Given the description of an element on the screen output the (x, y) to click on. 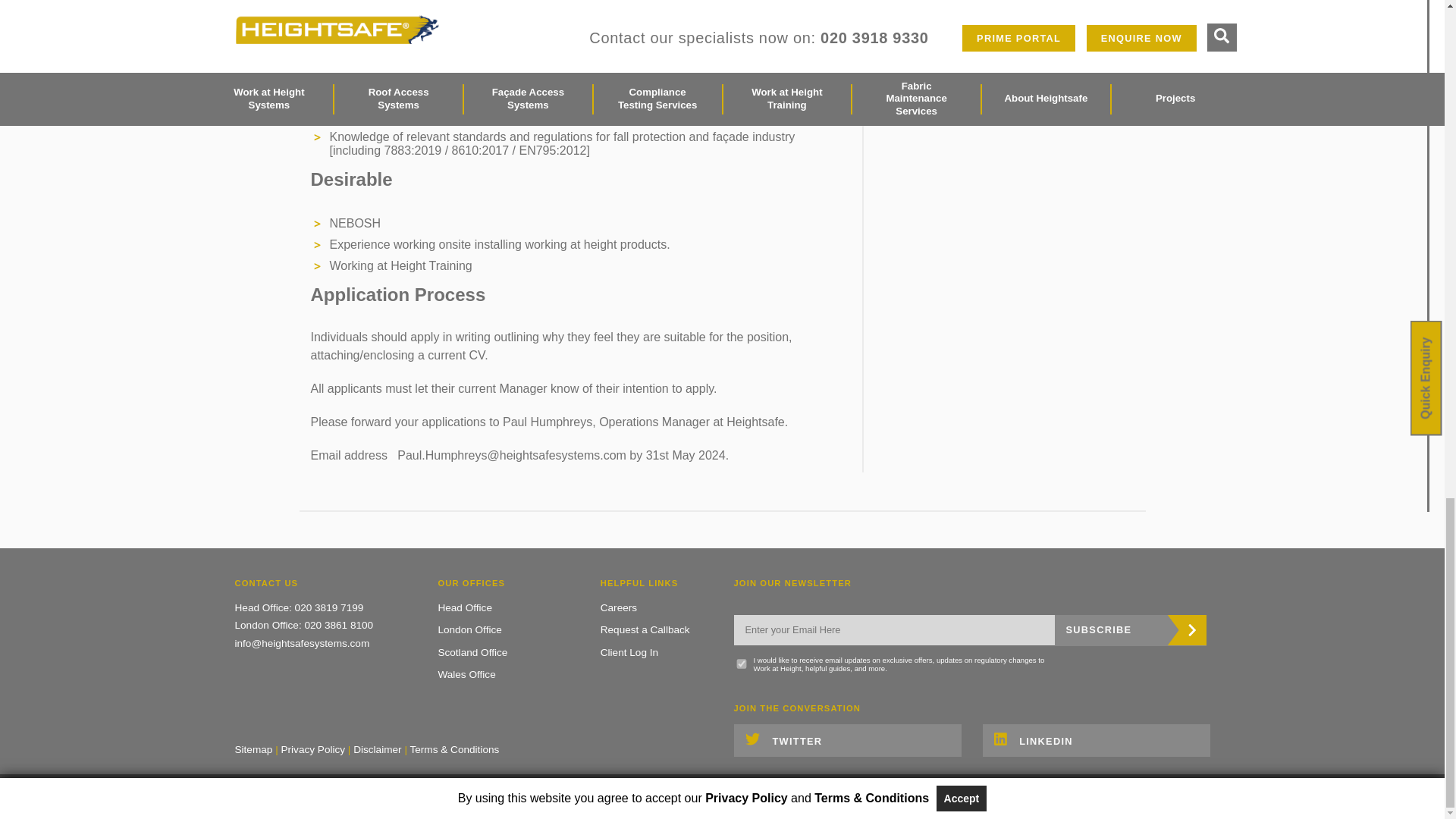
Subscribe (1129, 630)
